Given the description of an element on the screen output the (x, y) to click on. 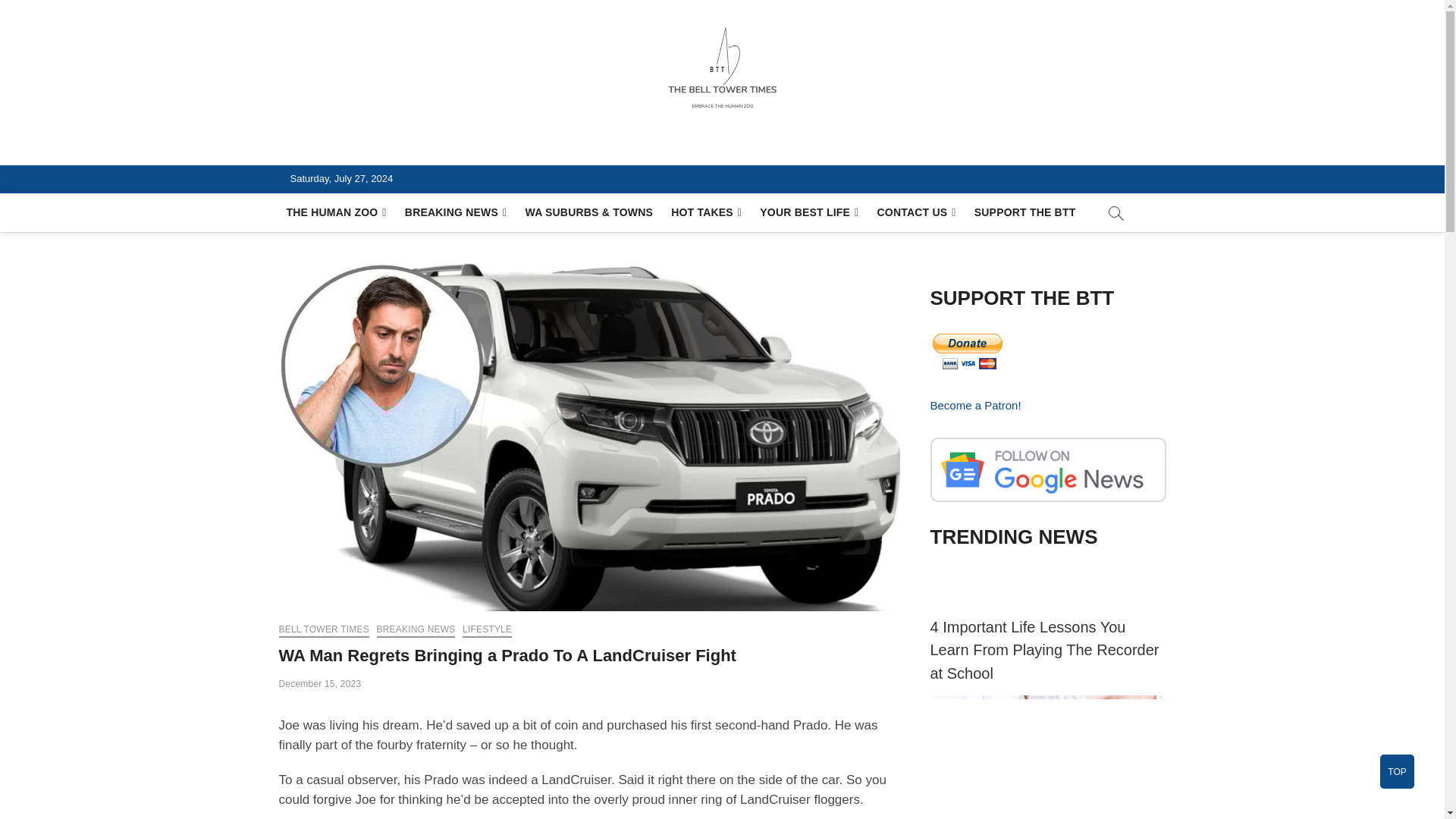
THE HUMAN ZOO (336, 212)
BREAKING NEWS (456, 212)
The Bell Tower Times (416, 146)
HOT TAKES (706, 212)
The Bell Tower Times (416, 146)
December 15, 2023 (320, 683)
YOUR BEST LIFE (809, 212)
